Given the description of an element on the screen output the (x, y) to click on. 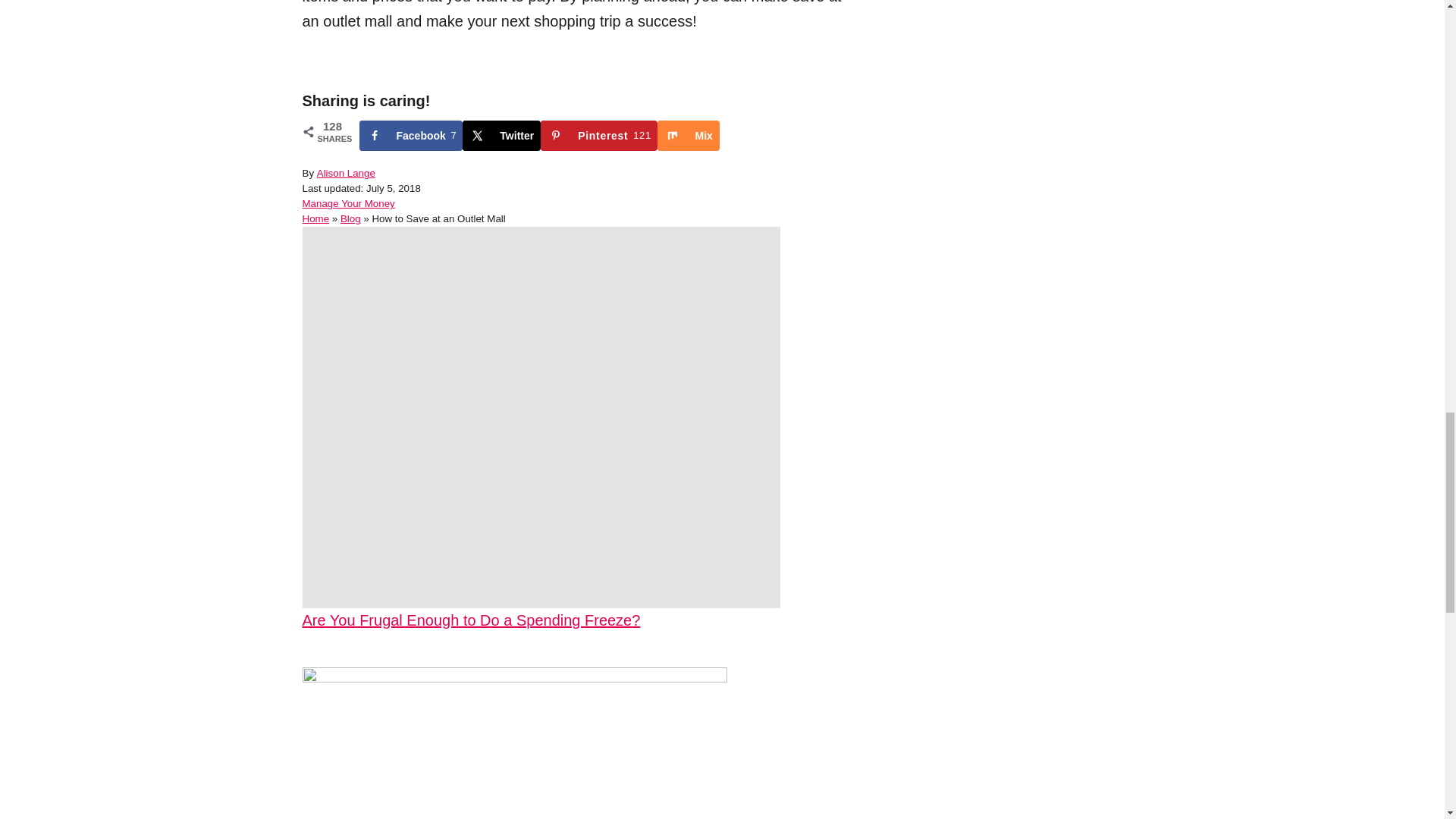
Blog (350, 218)
Alison Lange (346, 173)
Share on X (411, 135)
Save to Pinterest (501, 135)
Share on Mix (599, 135)
Are You Frugal Enough to Do a Spending Freeze? (688, 135)
Share on Facebook (577, 620)
Mix (411, 135)
Twitter (688, 135)
